Given the description of an element on the screen output the (x, y) to click on. 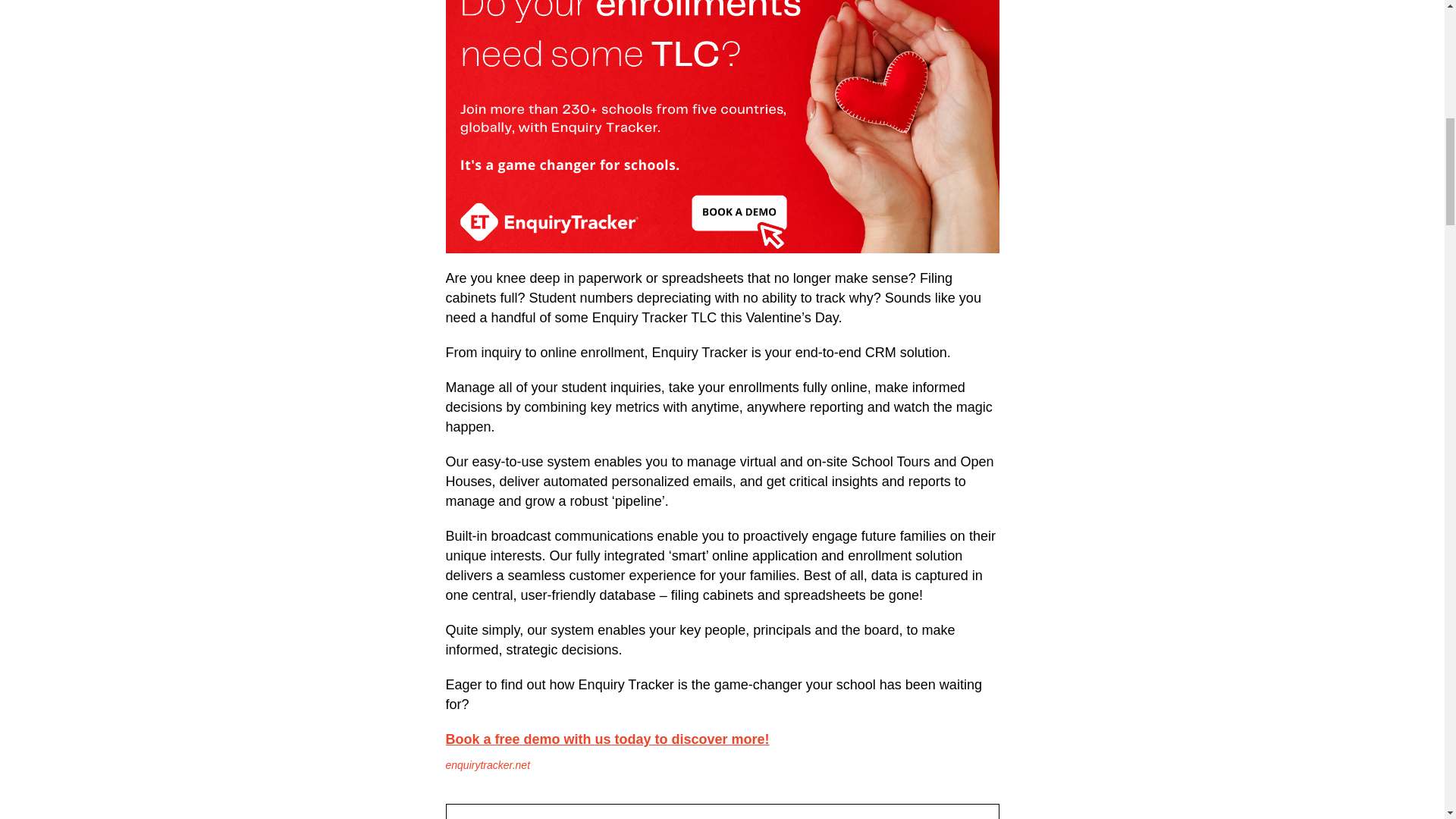
Book a free demo with us today to discover more! (607, 739)
enquirytracker.net (488, 765)
